Given the description of an element on the screen output the (x, y) to click on. 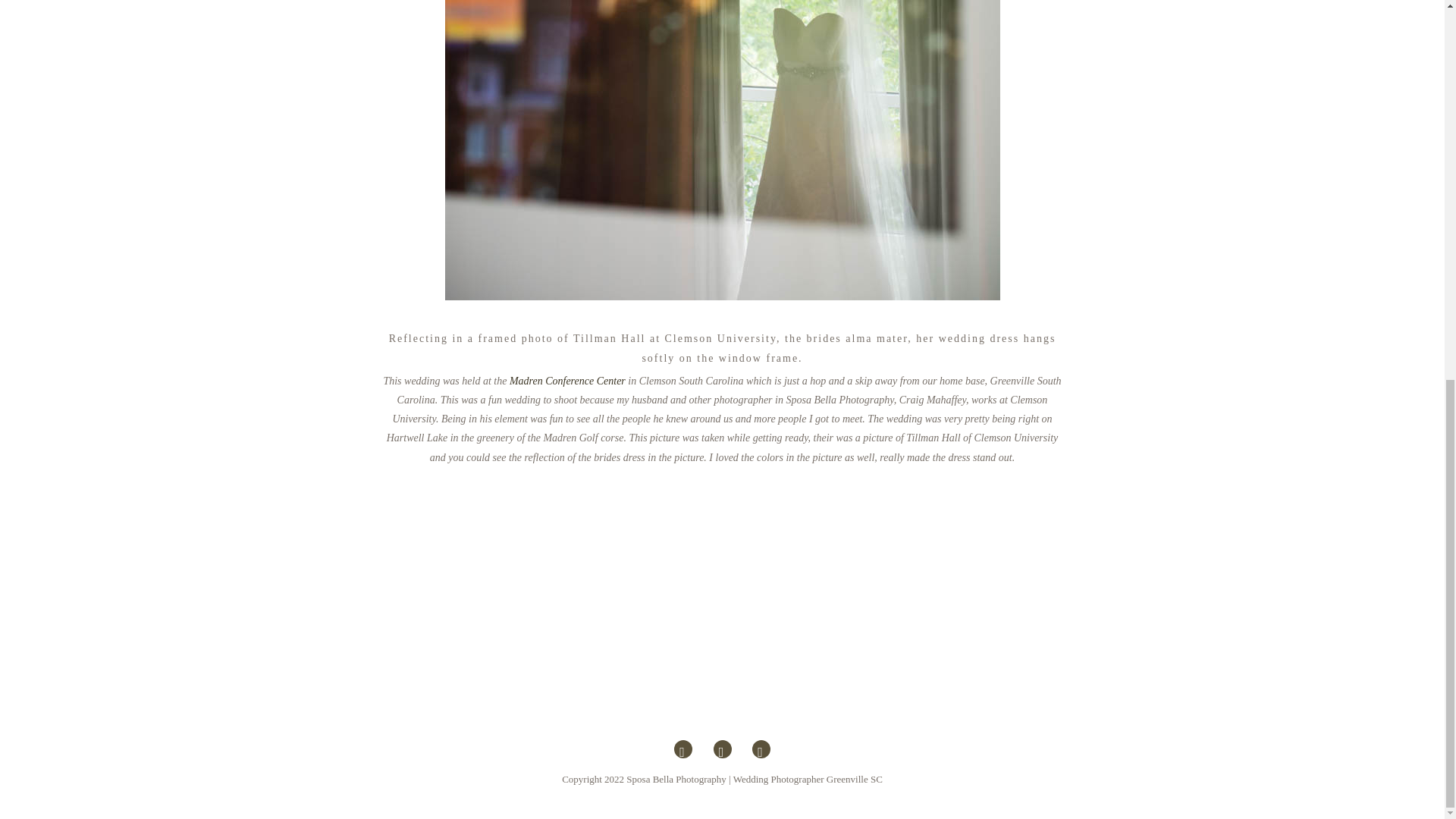
Instagram (761, 753)
Madren Conference Center (567, 380)
